Given the description of an element on the screen output the (x, y) to click on. 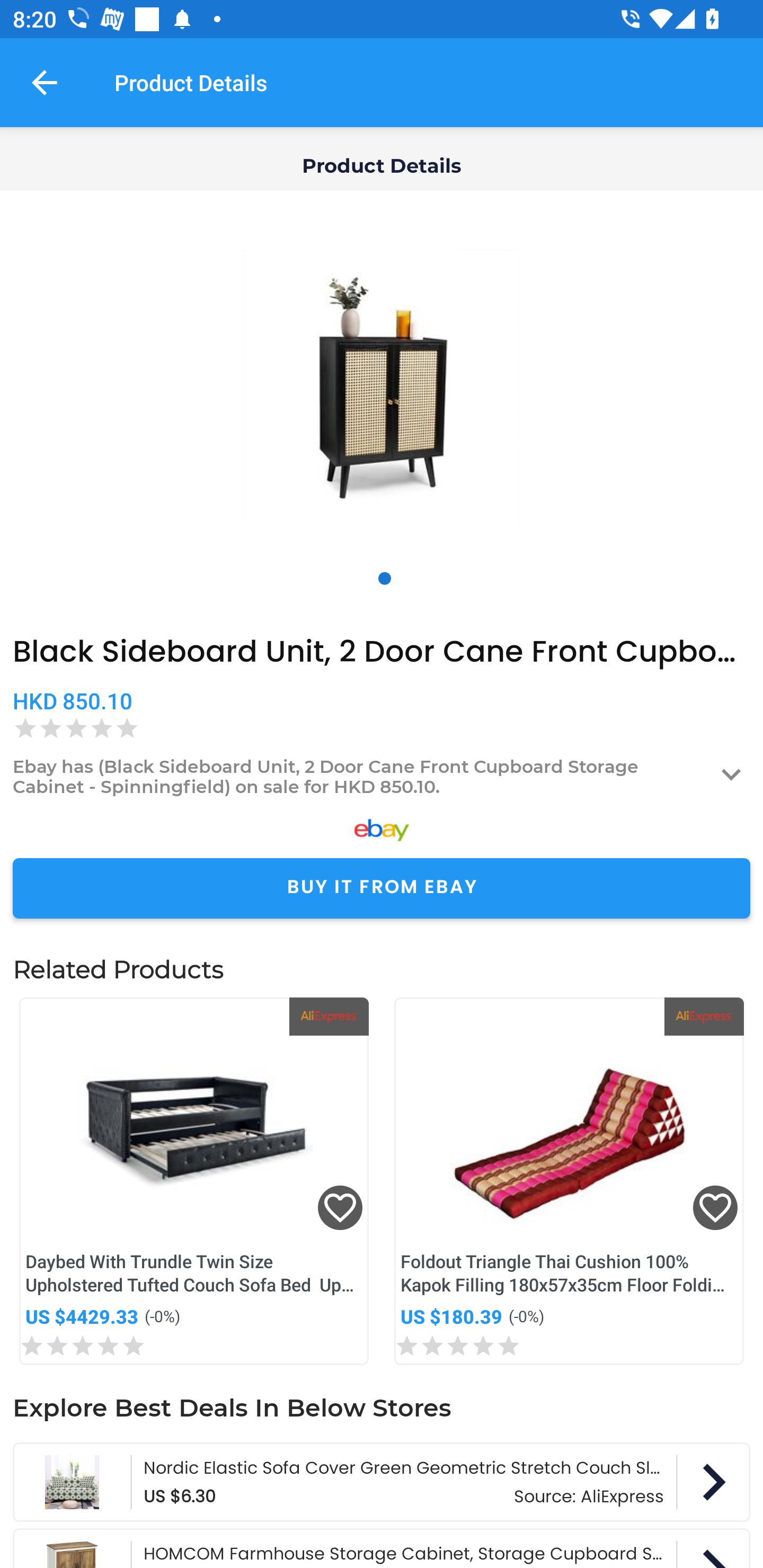
Navigate up (44, 82)
BUY IT FROM EBAY (381, 888)
